Given the description of an element on the screen output the (x, y) to click on. 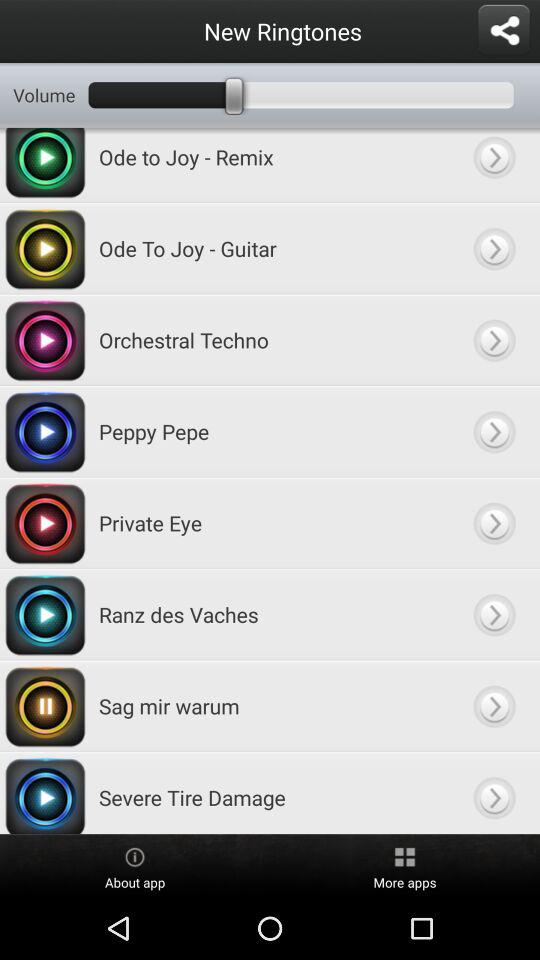
favorited (494, 164)
